Given the description of an element on the screen output the (x, y) to click on. 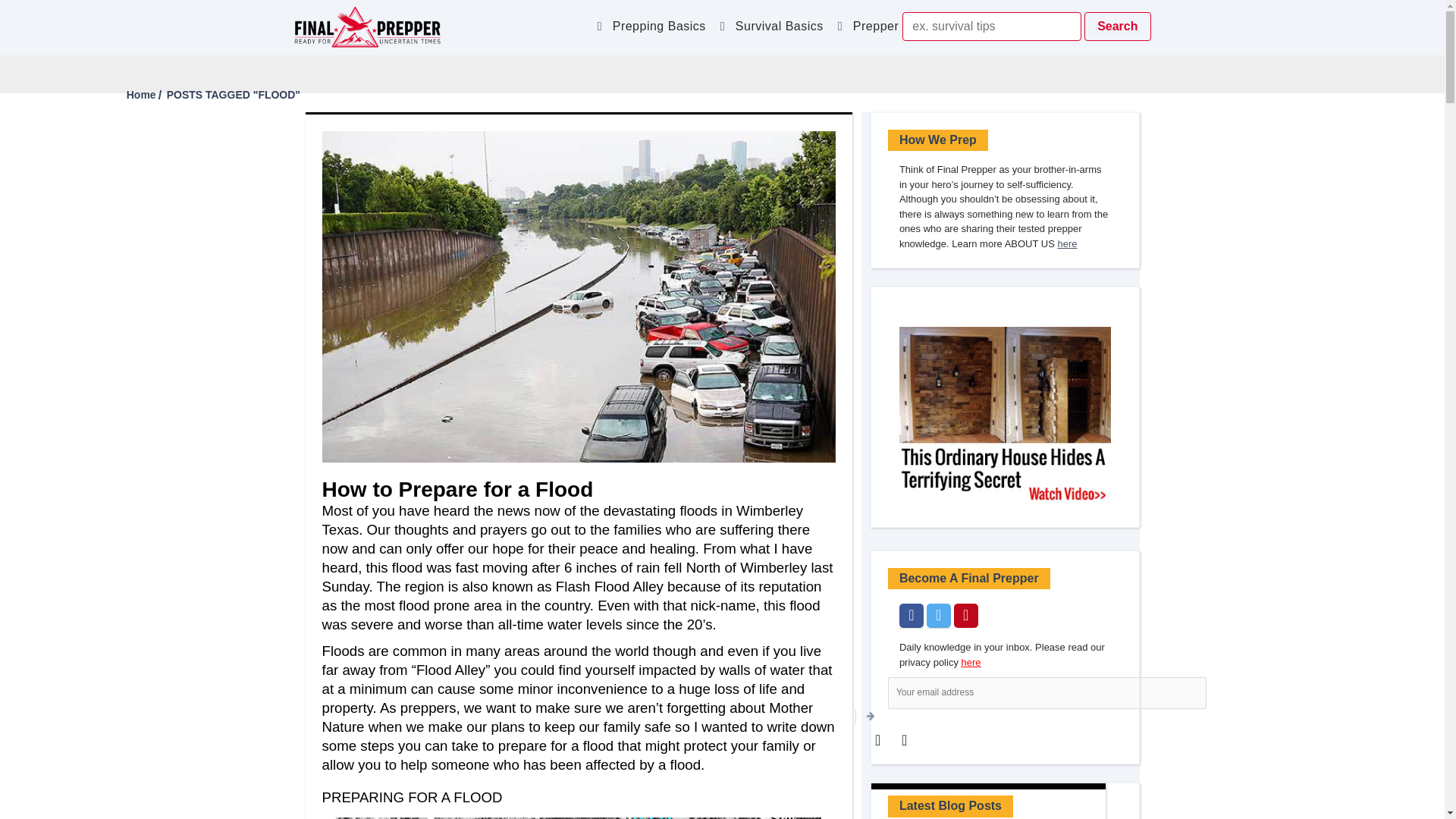
Prepping Basics (661, 30)
Search (1117, 26)
How to Prepare for a Flood (456, 489)
Search (1117, 26)
Prepper Resources (911, 30)
Survival Basics (782, 30)
